Given the description of an element on the screen output the (x, y) to click on. 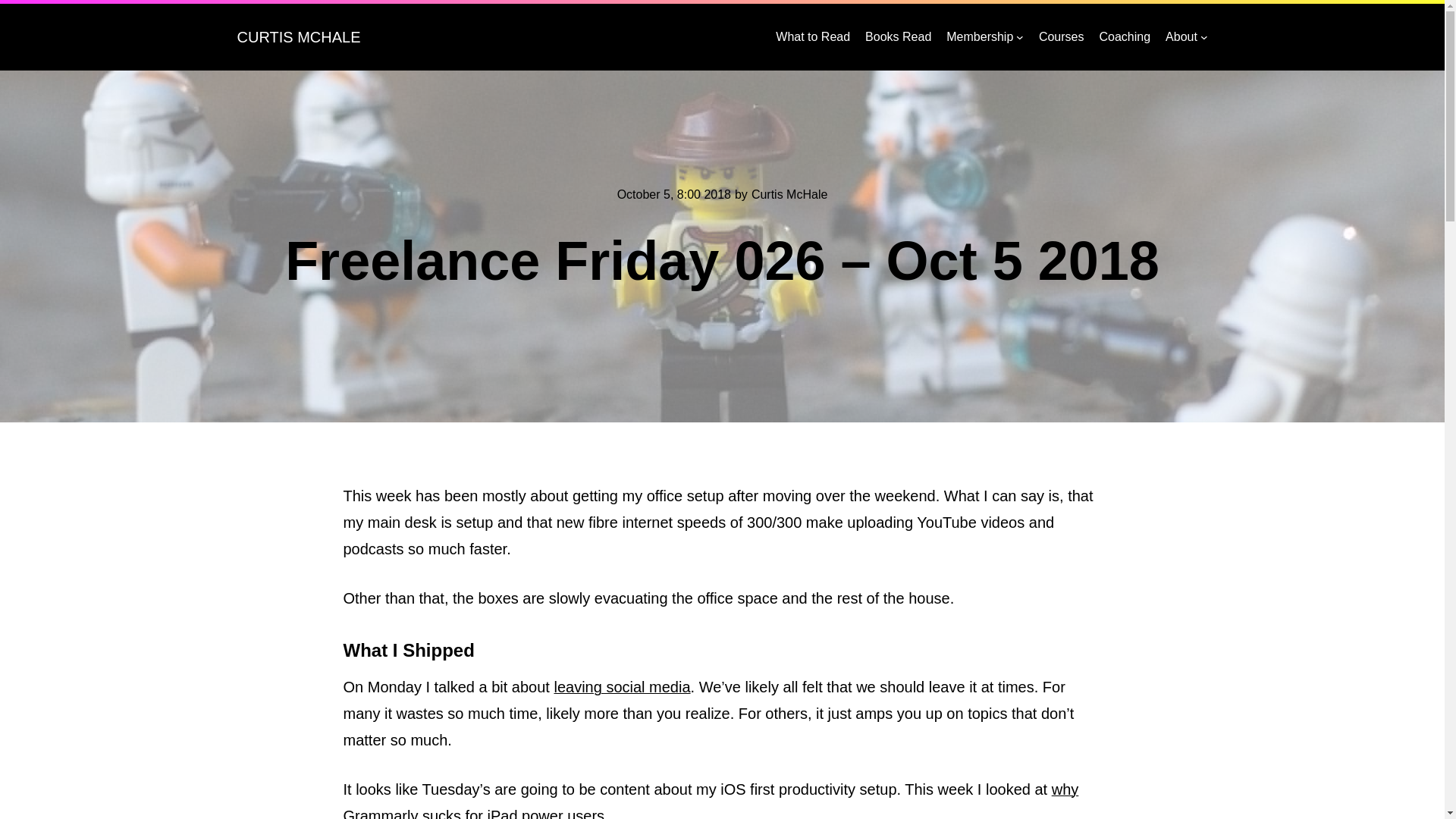
What to Read (813, 36)
Courses (1061, 36)
Books Read (897, 36)
leaving social media (621, 686)
CURTIS MCHALE (297, 36)
About (1181, 36)
Coaching (1124, 36)
why Grammarly sucks for iPad power users (710, 800)
Membership (979, 36)
